Given the description of an element on the screen output the (x, y) to click on. 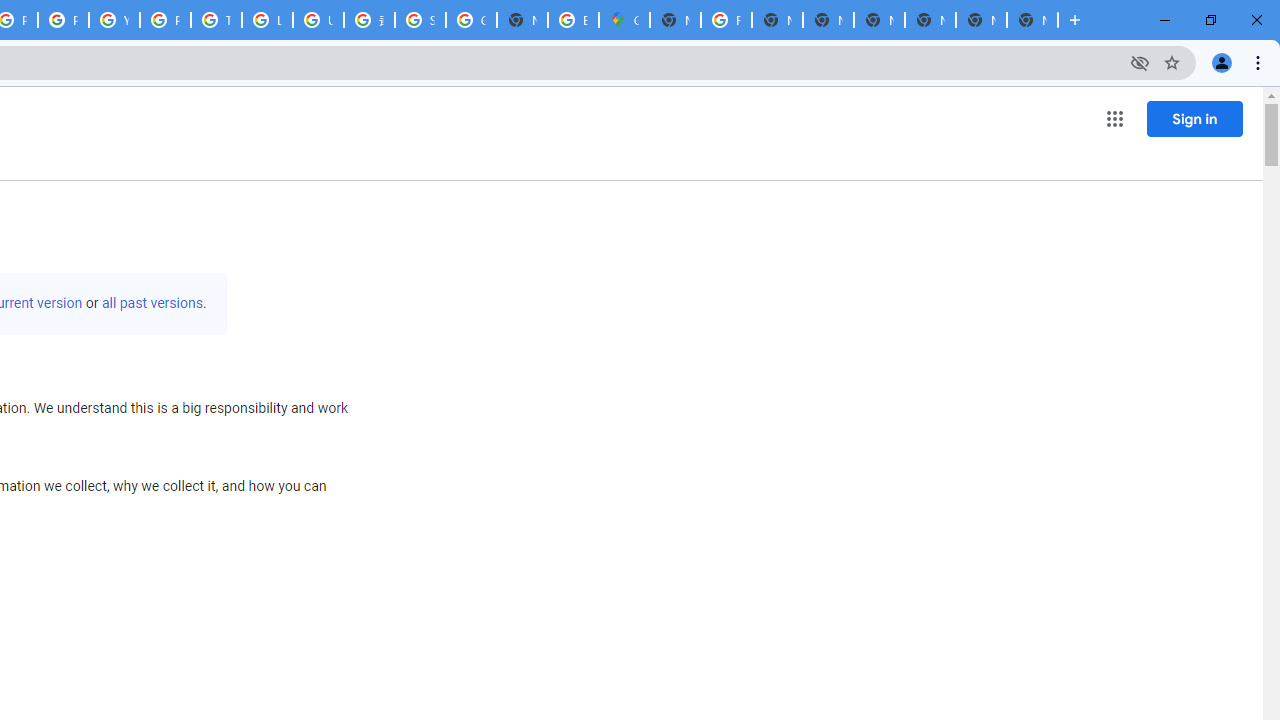
Sign in - Google Accounts (420, 20)
New Tab (675, 20)
New Tab (1032, 20)
